Given the description of an element on the screen output the (x, y) to click on. 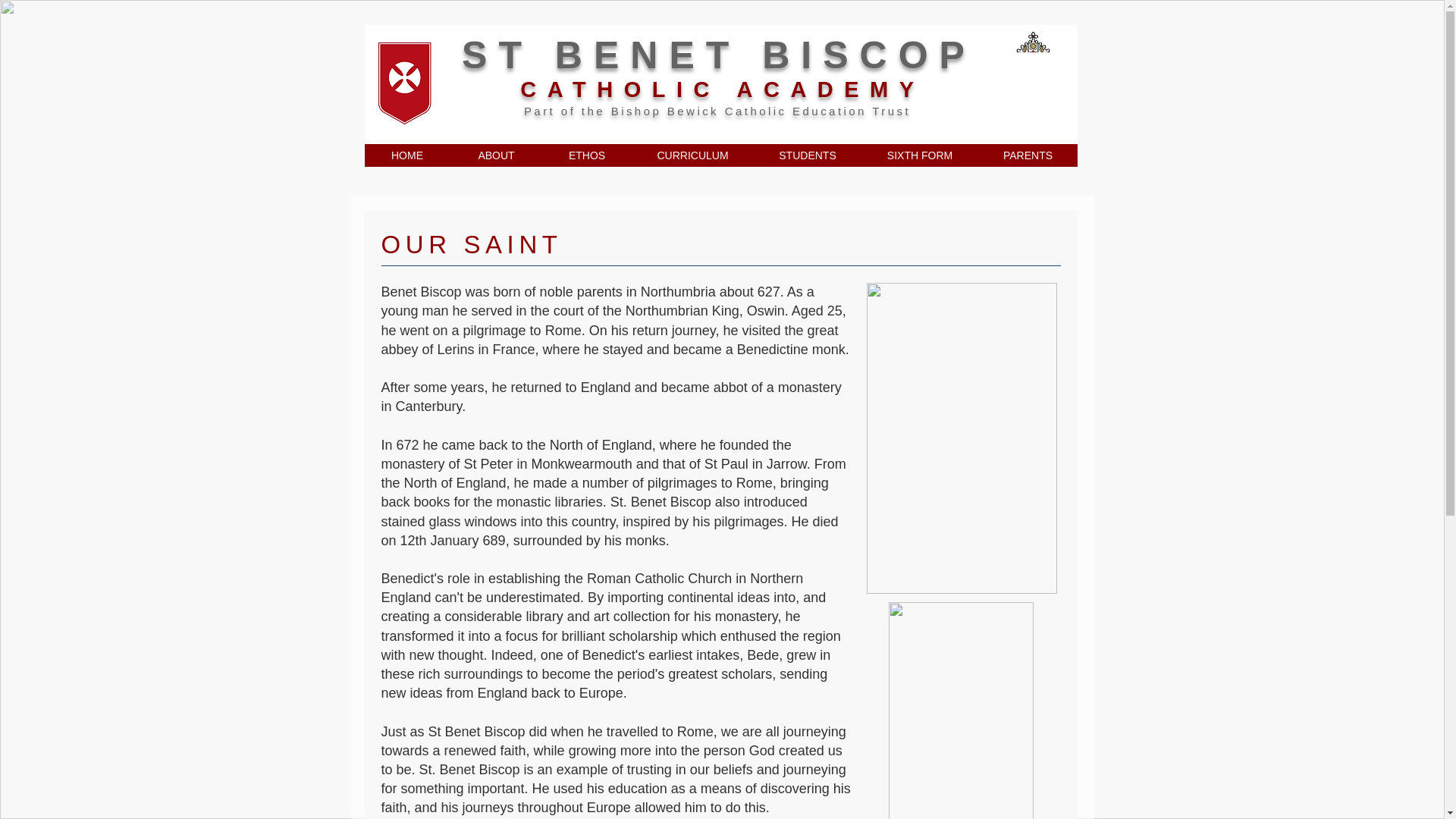
HOME (406, 155)
